Given the description of an element on the screen output the (x, y) to click on. 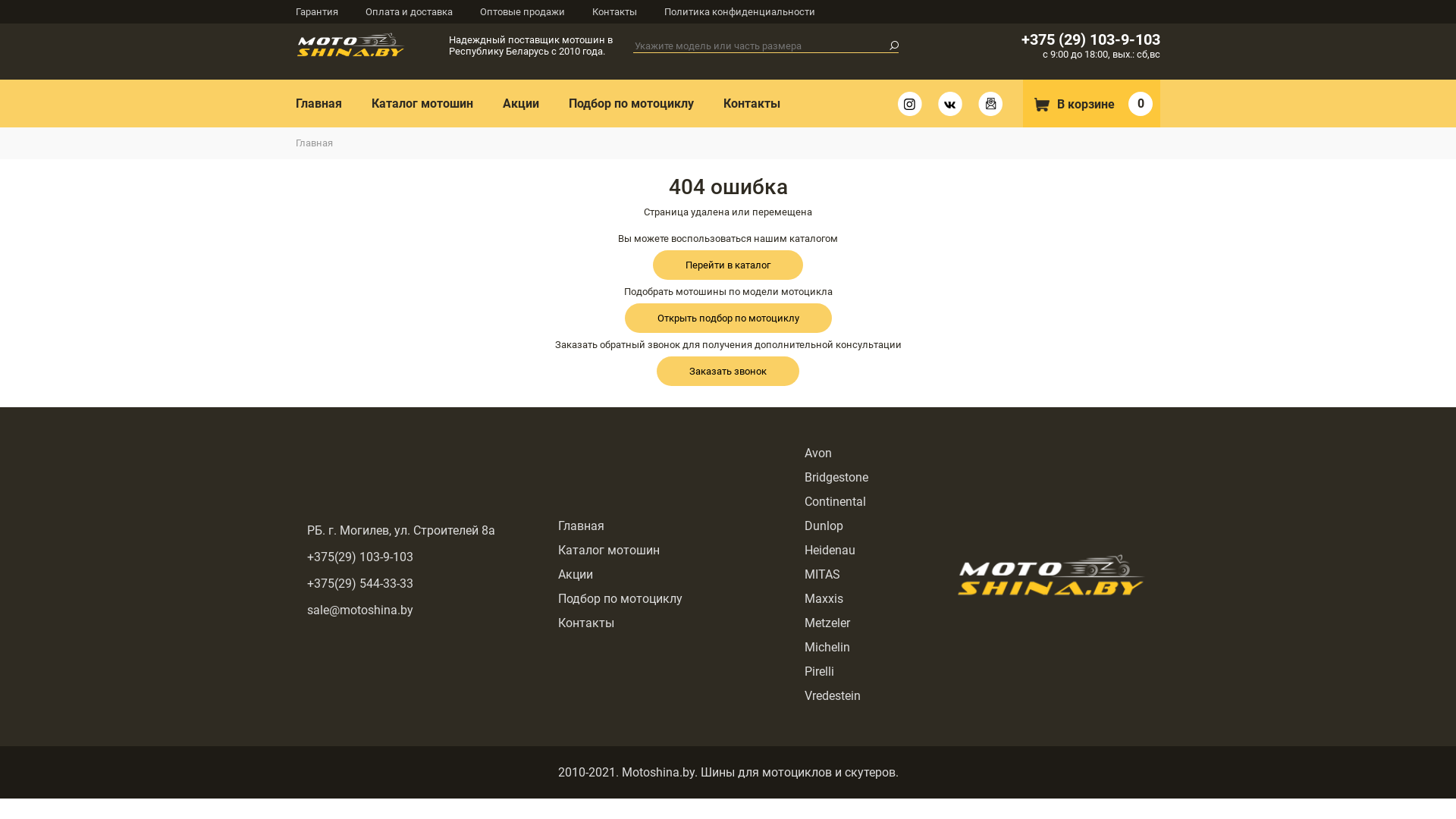
Vredestein Element type: text (831, 695)
Pirelli Element type: text (818, 671)
Bridgestone Element type: text (835, 477)
Dunlop Element type: text (822, 525)
Michelin Element type: text (826, 647)
Maxxis Element type: text (822, 598)
Instagram Element type: text (909, 103)
+375 (29) 103-9-103 Element type: text (1090, 39)
Continental Element type: text (834, 501)
Metzeler Element type: text (826, 622)
Avon Element type: text (817, 452)
E-mail Element type: text (990, 103)
Heidenau Element type: text (828, 549)
MITAS Element type: text (821, 574)
